Given the description of an element on the screen output the (x, y) to click on. 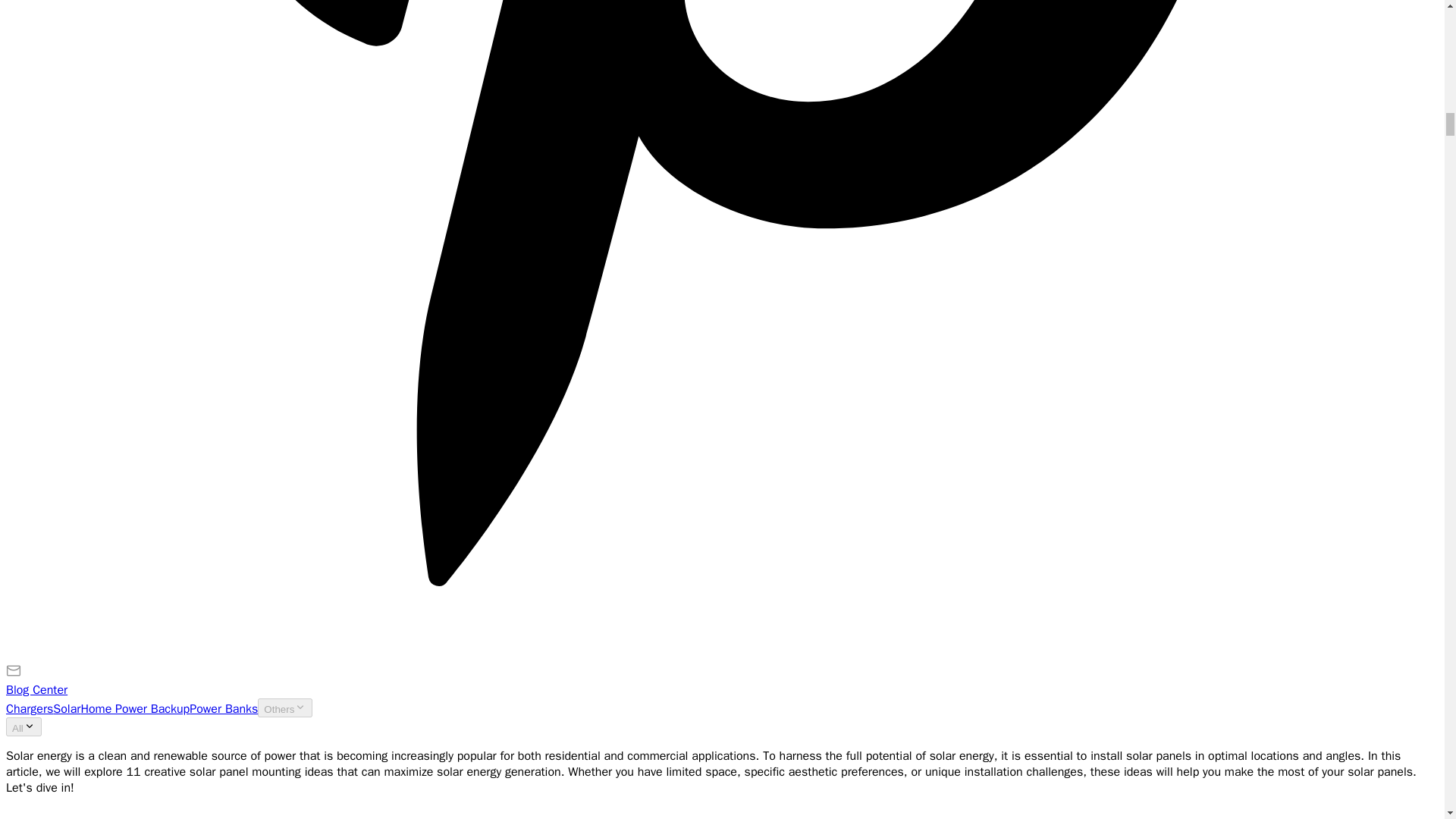
All (23, 726)
Email this to a friend (13, 673)
Power Banks (223, 708)
Solar (66, 708)
Chargers (28, 708)
Home Power Backup (134, 708)
Blog Center (35, 689)
Others (285, 707)
